Given the description of an element on the screen output the (x, y) to click on. 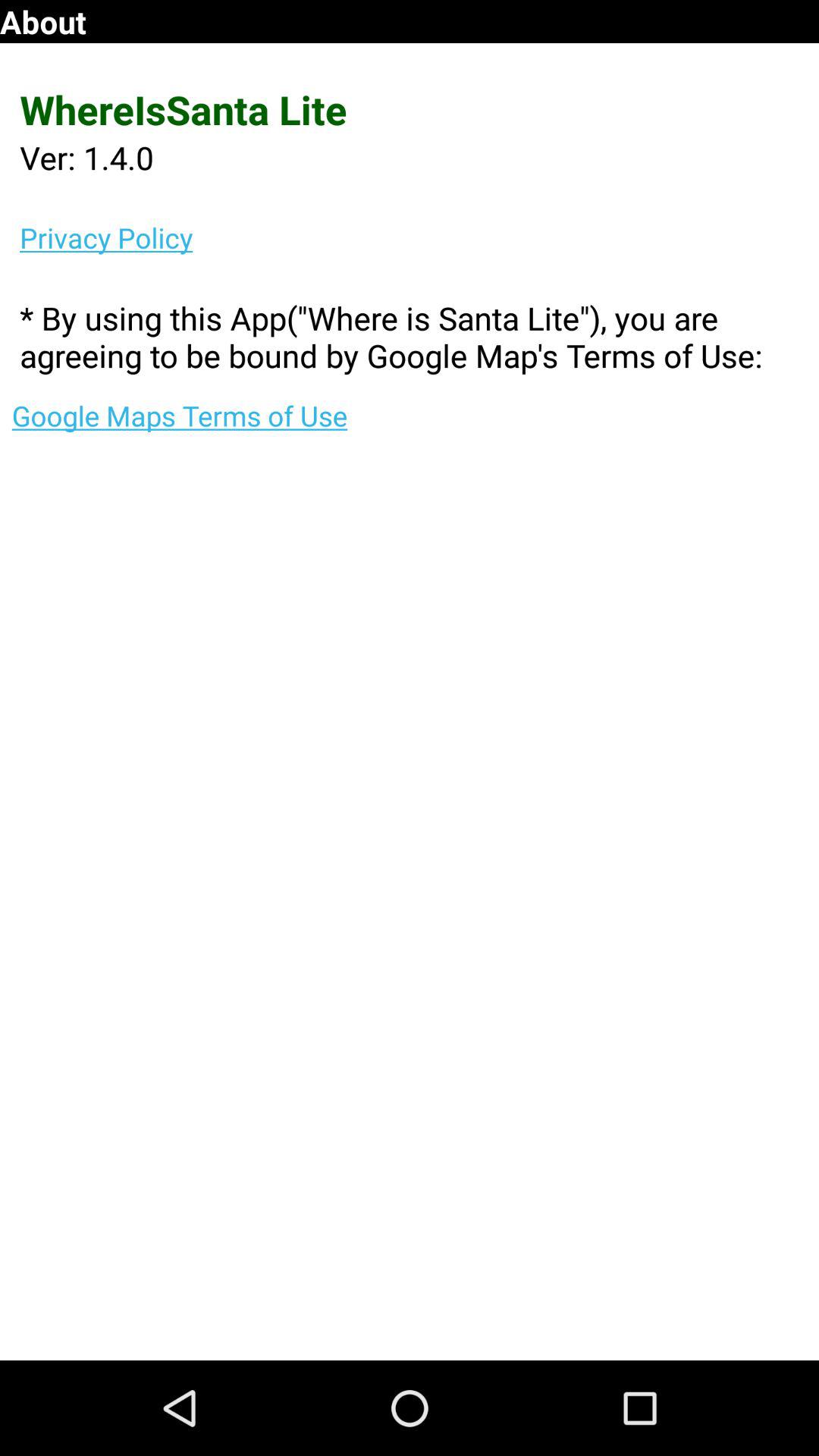
tap the app below ver 1 4 (419, 237)
